Given the description of an element on the screen output the (x, y) to click on. 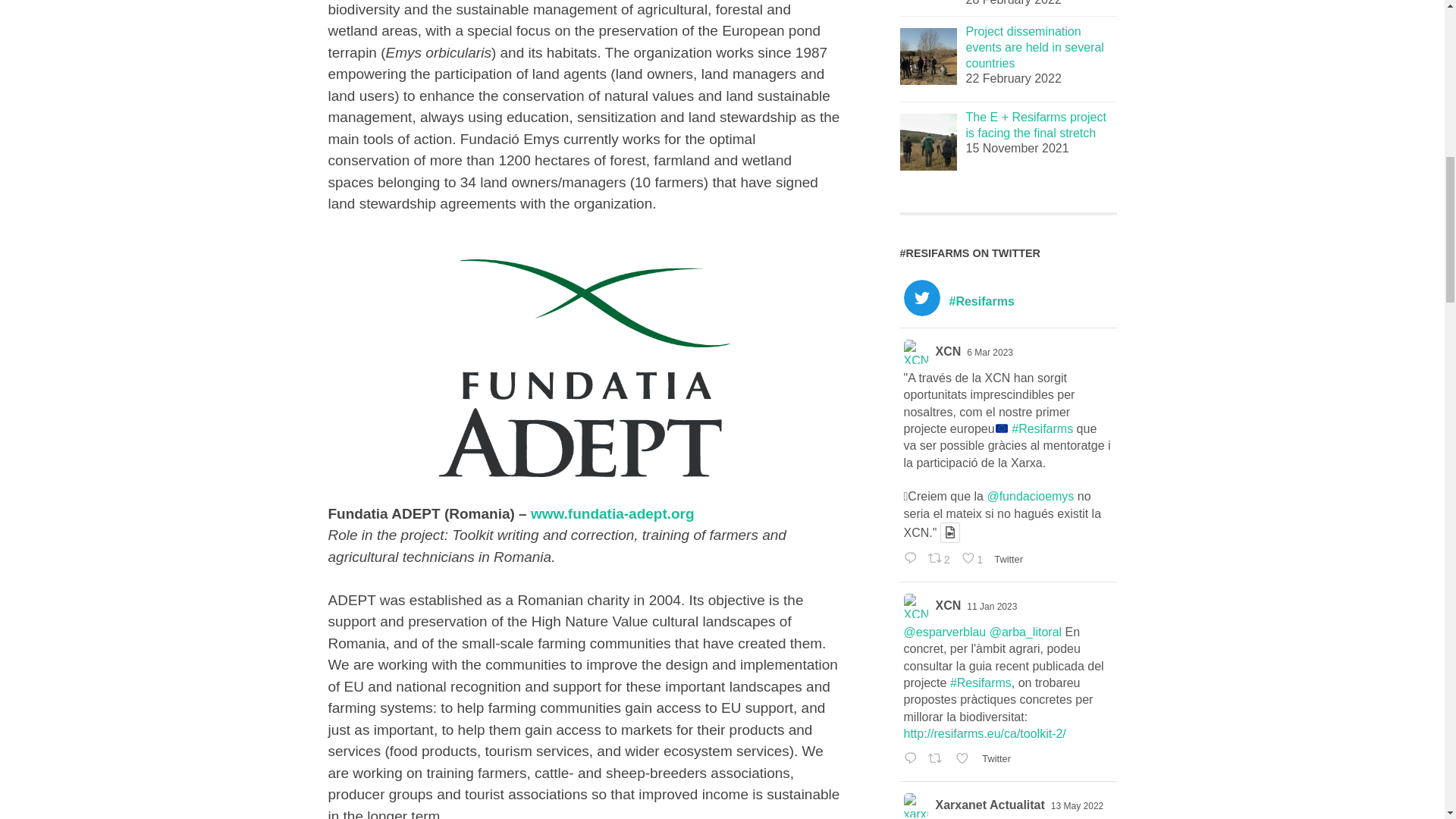
www.fundatia-adept.org (612, 513)
